Given the description of an element on the screen output the (x, y) to click on. 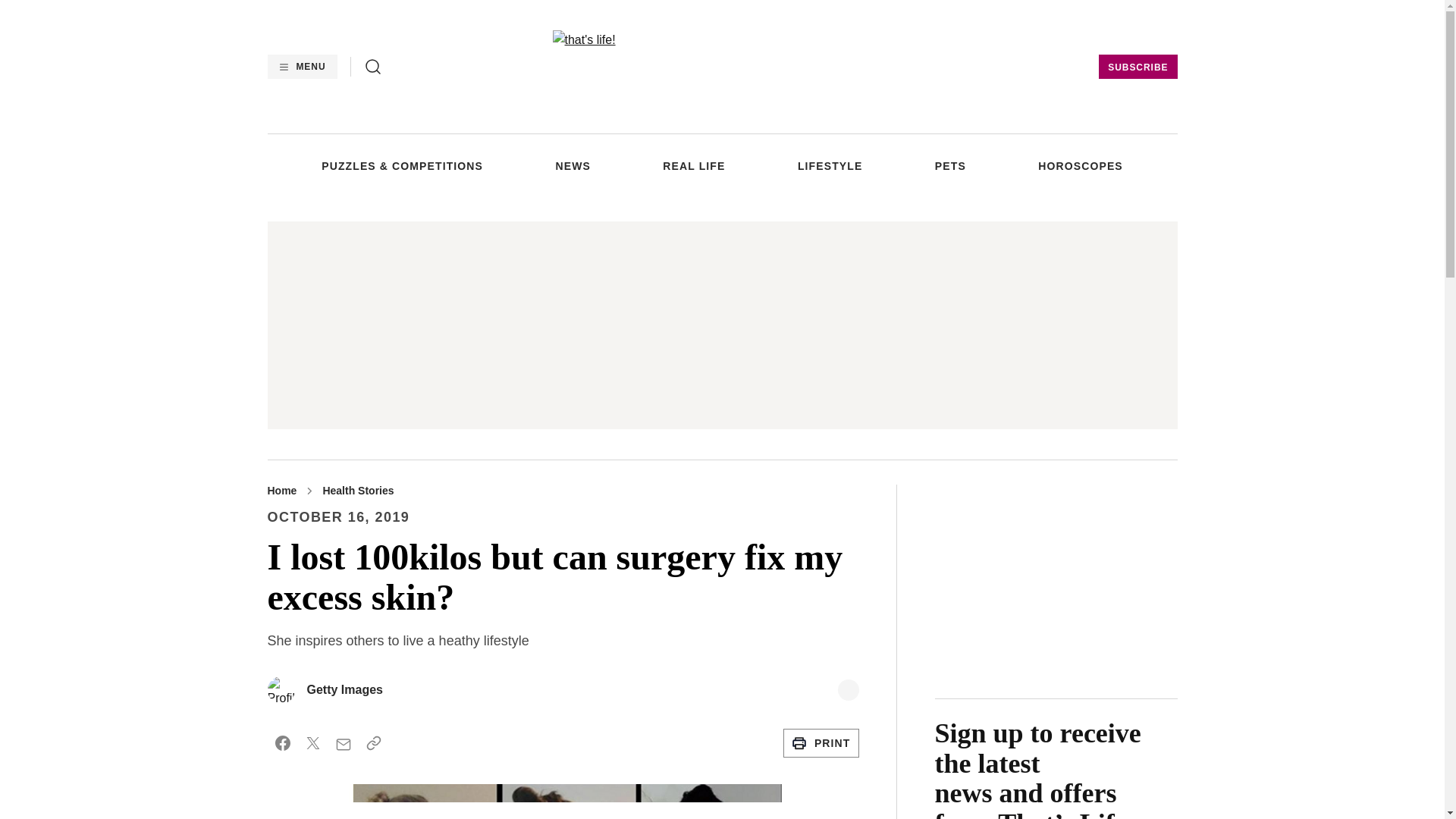
MENU (301, 66)
PETS (950, 165)
SUBSCRIBE (1137, 66)
LIFESTYLE (830, 165)
HOROSCOPES (1080, 165)
NEWS (571, 165)
REAL LIFE (693, 165)
